Given the description of an element on the screen output the (x, y) to click on. 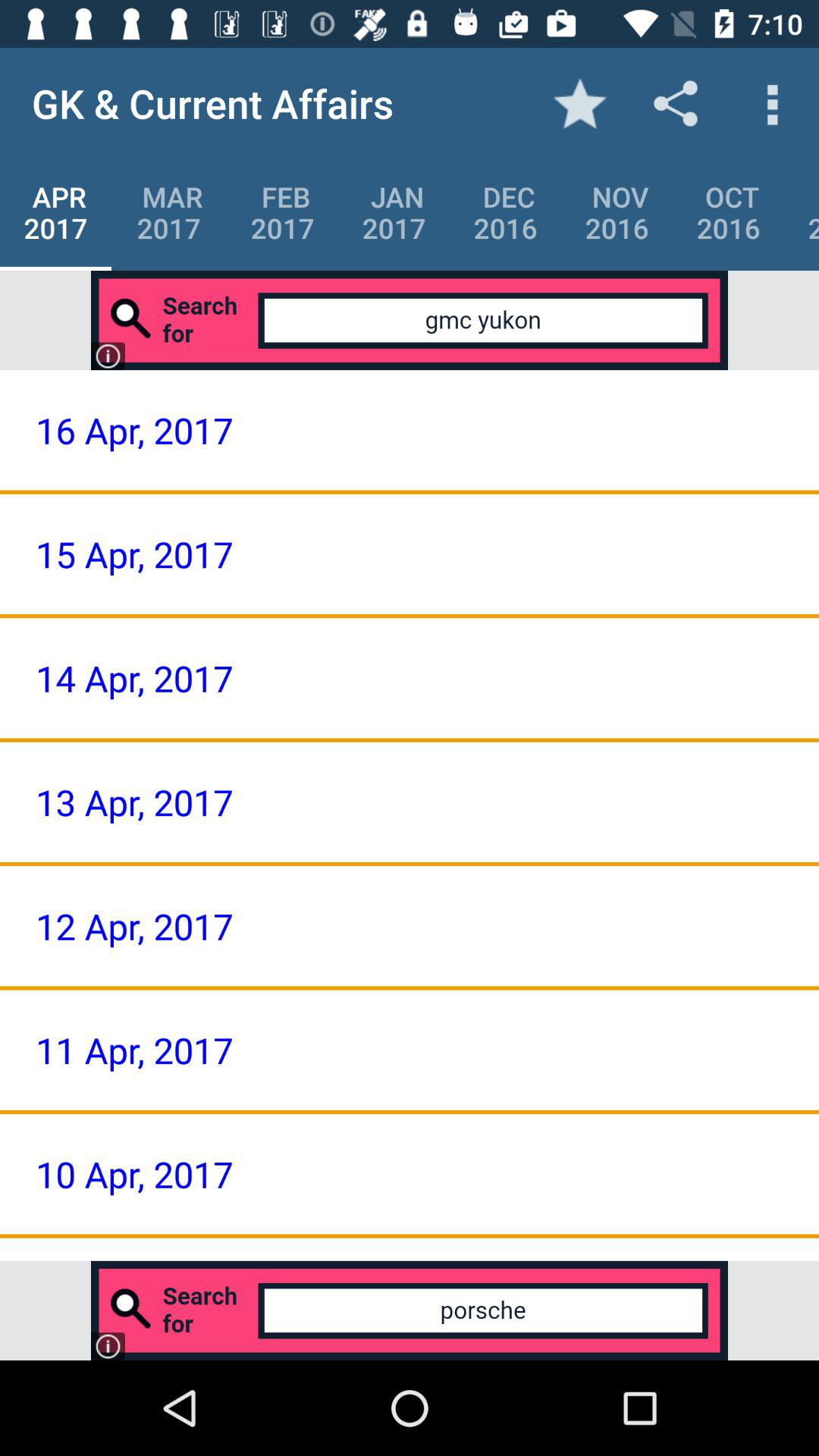
click the  mar
2017 item (168, 212)
